Given the description of an element on the screen output the (x, y) to click on. 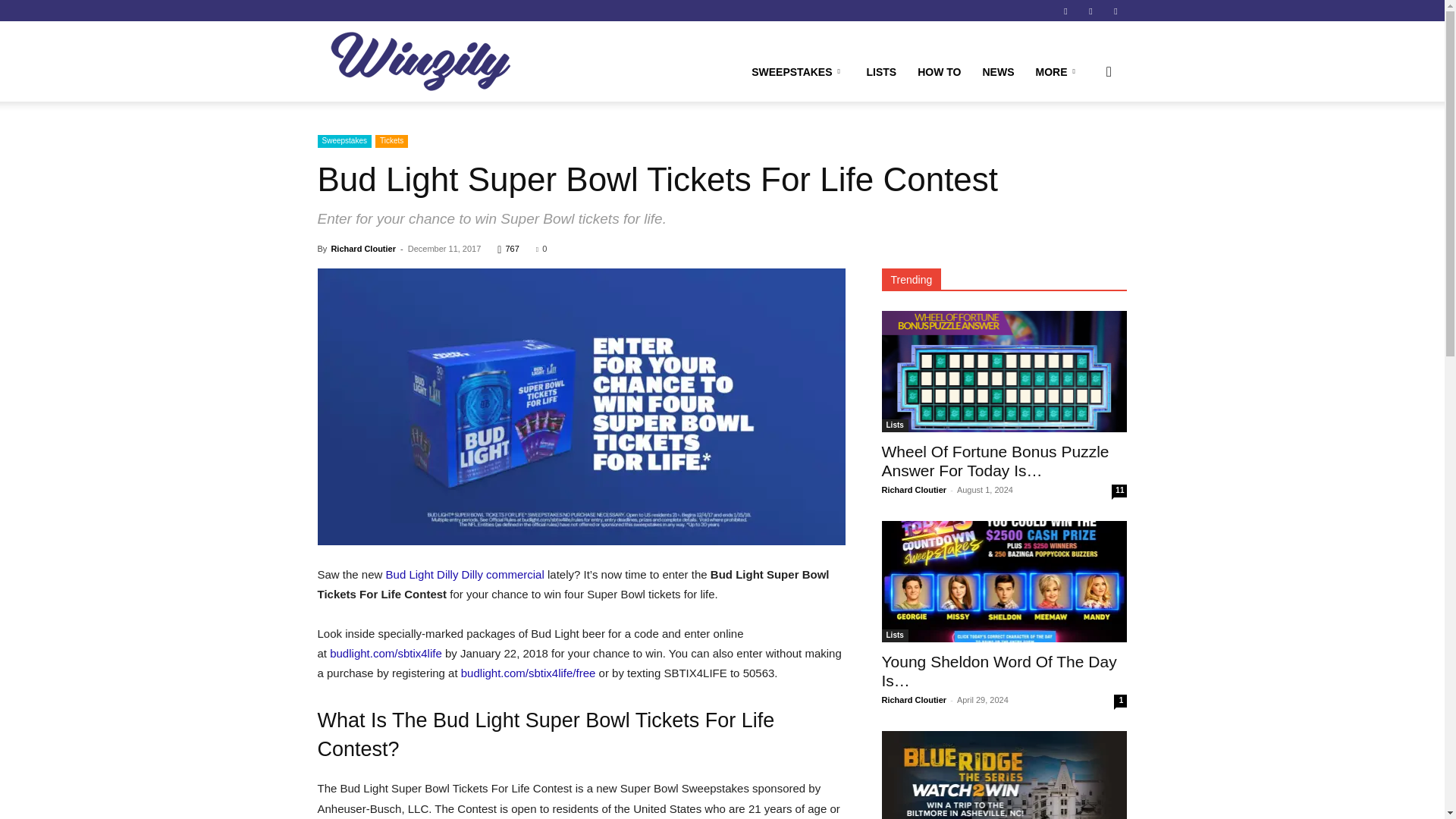
Facebook (1065, 10)
Winzily (419, 60)
Youtube (1114, 10)
Winzily (419, 61)
Twitter (1090, 10)
SWEEPSTAKES (798, 71)
Search (1085, 143)
